Given the description of an element on the screen output the (x, y) to click on. 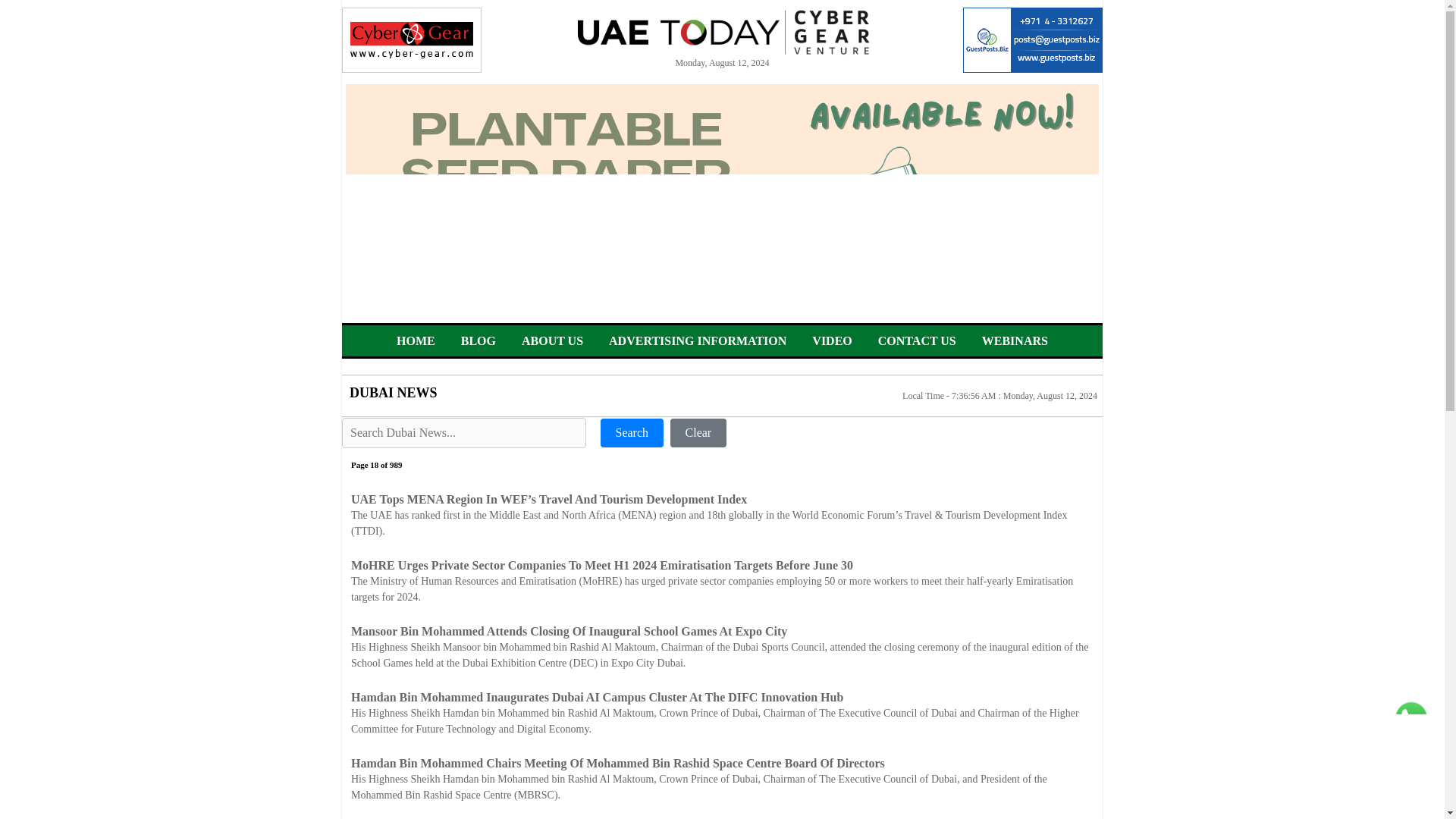
WEBINARS (1014, 340)
VIDEO (831, 340)
ADVERTISING INFORMATION (697, 340)
ONLY webinars (1014, 340)
BLOG (478, 340)
ABOUT US (552, 340)
Clear (697, 432)
Cyber Gear (411, 39)
